Given the description of an element on the screen output the (x, y) to click on. 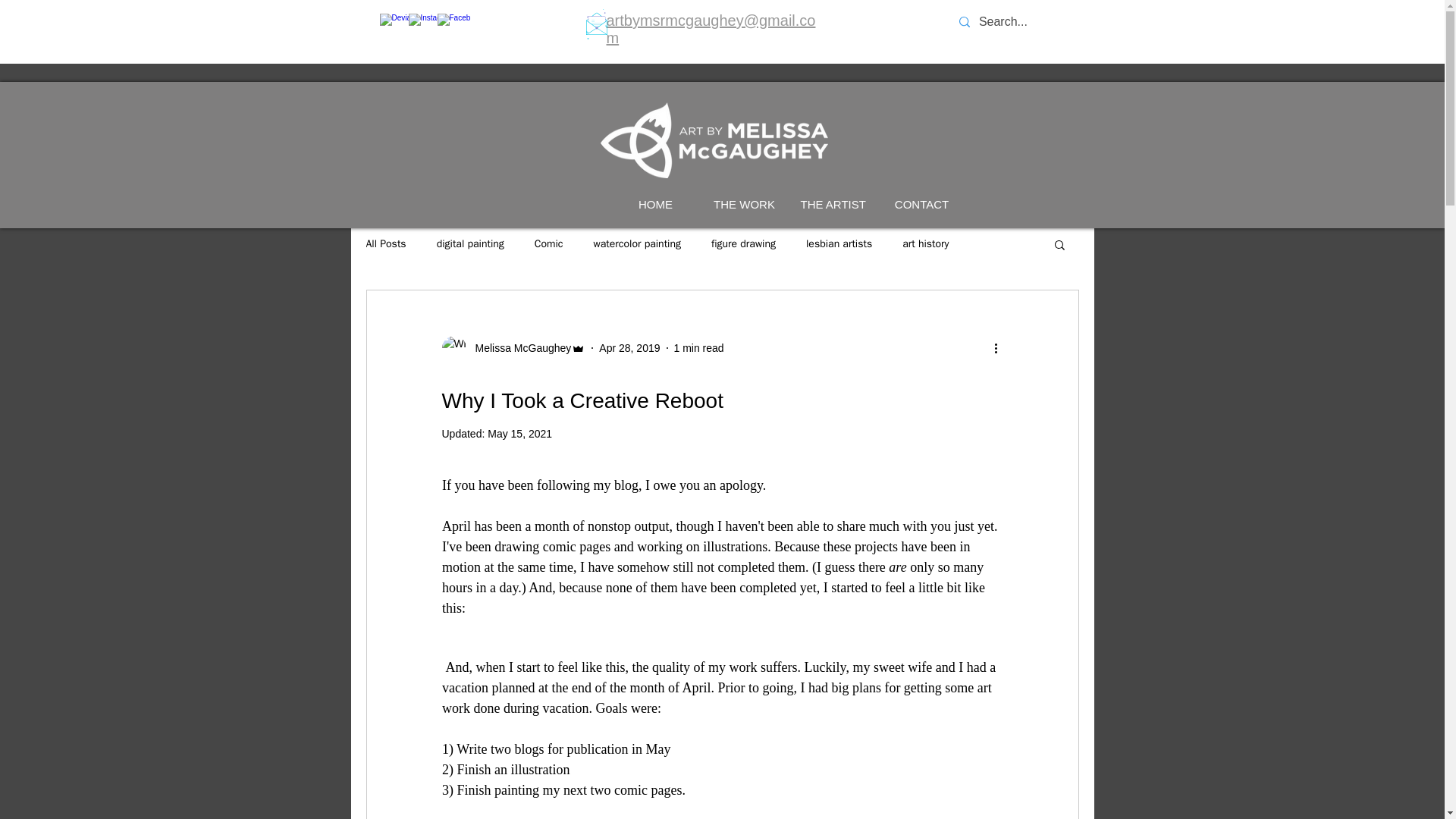
Melissa McGaughey (513, 347)
CONTACT (920, 204)
digital painting (469, 243)
THE WORK (742, 204)
Comic (548, 243)
Melissa McGaughey (517, 347)
art history (925, 243)
May 15, 2021 (519, 433)
Apr 28, 2019 (628, 346)
HOME (655, 204)
